Given the description of an element on the screen output the (x, y) to click on. 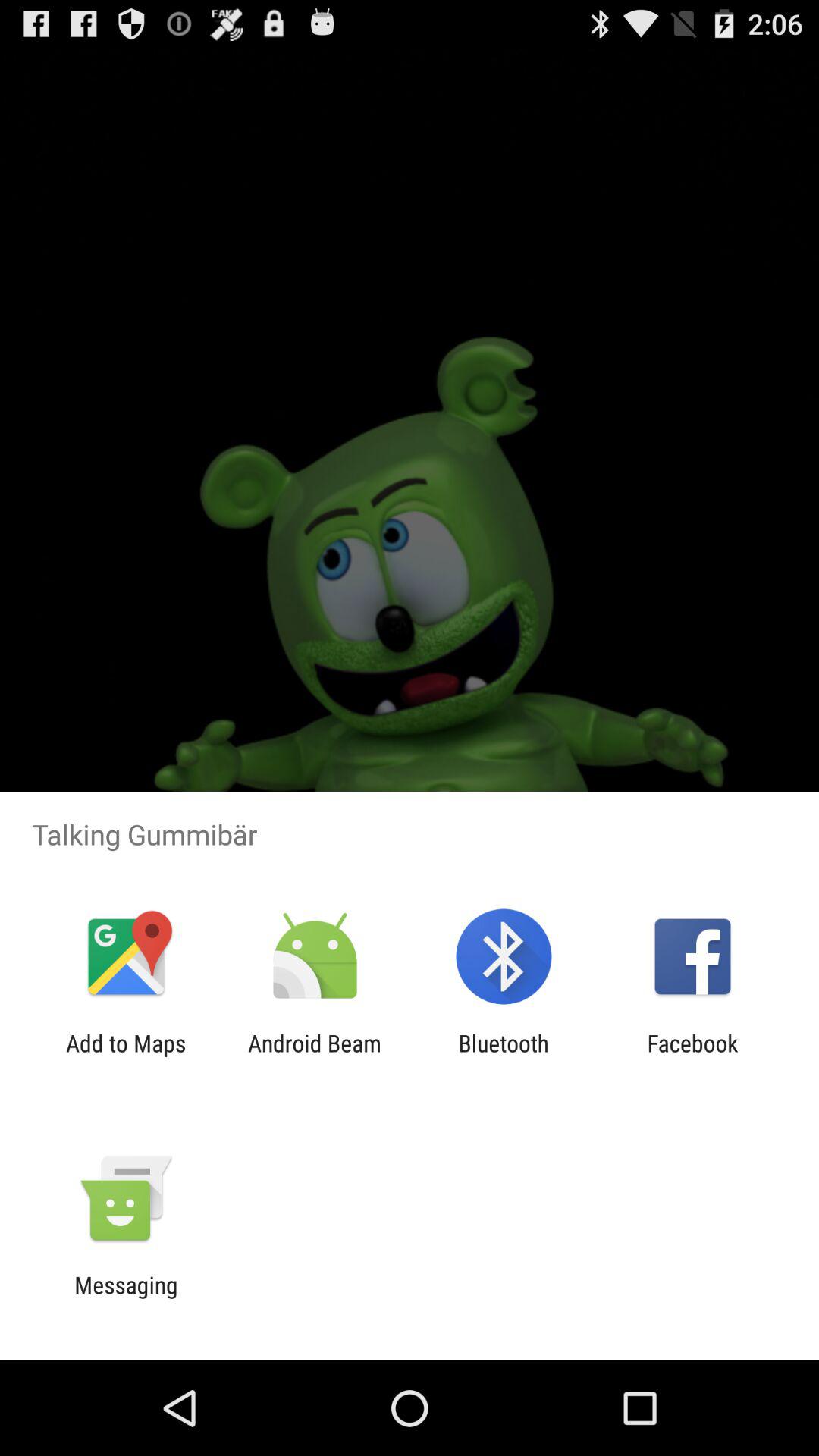
tap icon next to the android beam app (503, 1056)
